Given the description of an element on the screen output the (x, y) to click on. 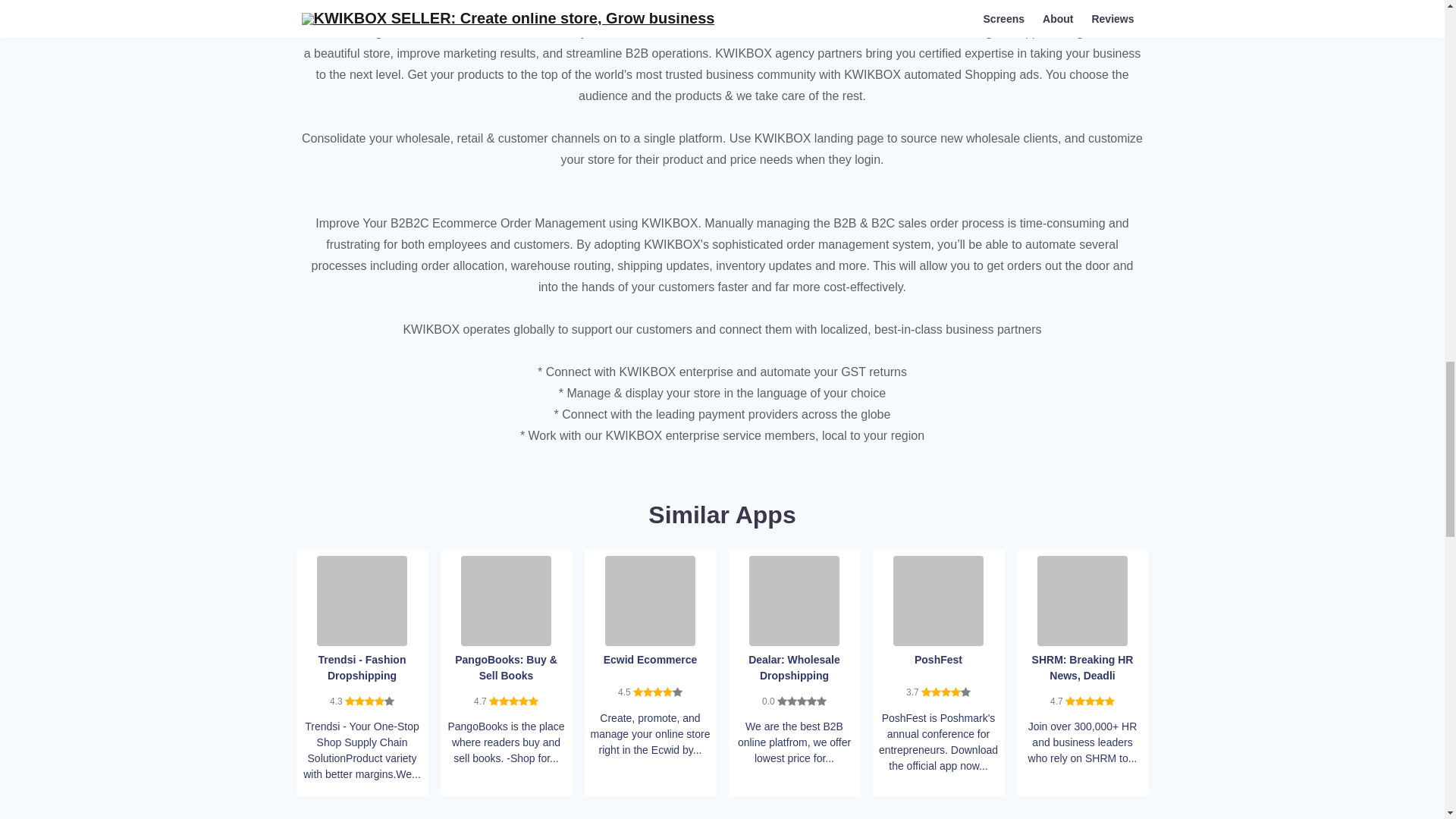
Dealar: Wholesale Dropshipping (794, 599)
SHRM: Breaking HR News, Deadli (1081, 599)
Ecwid Ecommerce (650, 599)
PoshFest (938, 599)
Trendsi - Fashion Dropshipping (362, 599)
